Given the description of an element on the screen output the (x, y) to click on. 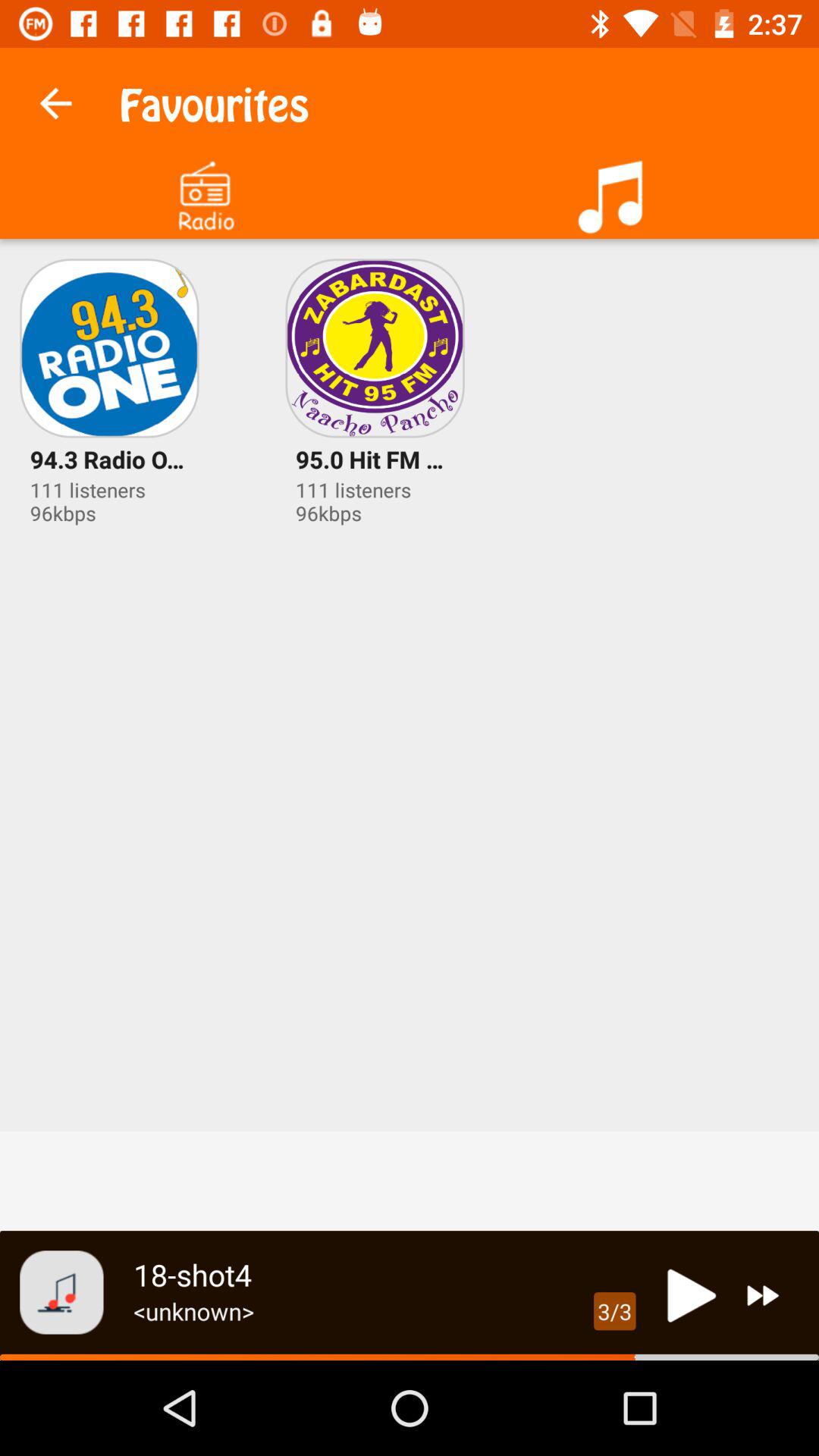
choose the icon at the top right corner (614, 190)
